Given the description of an element on the screen output the (x, y) to click on. 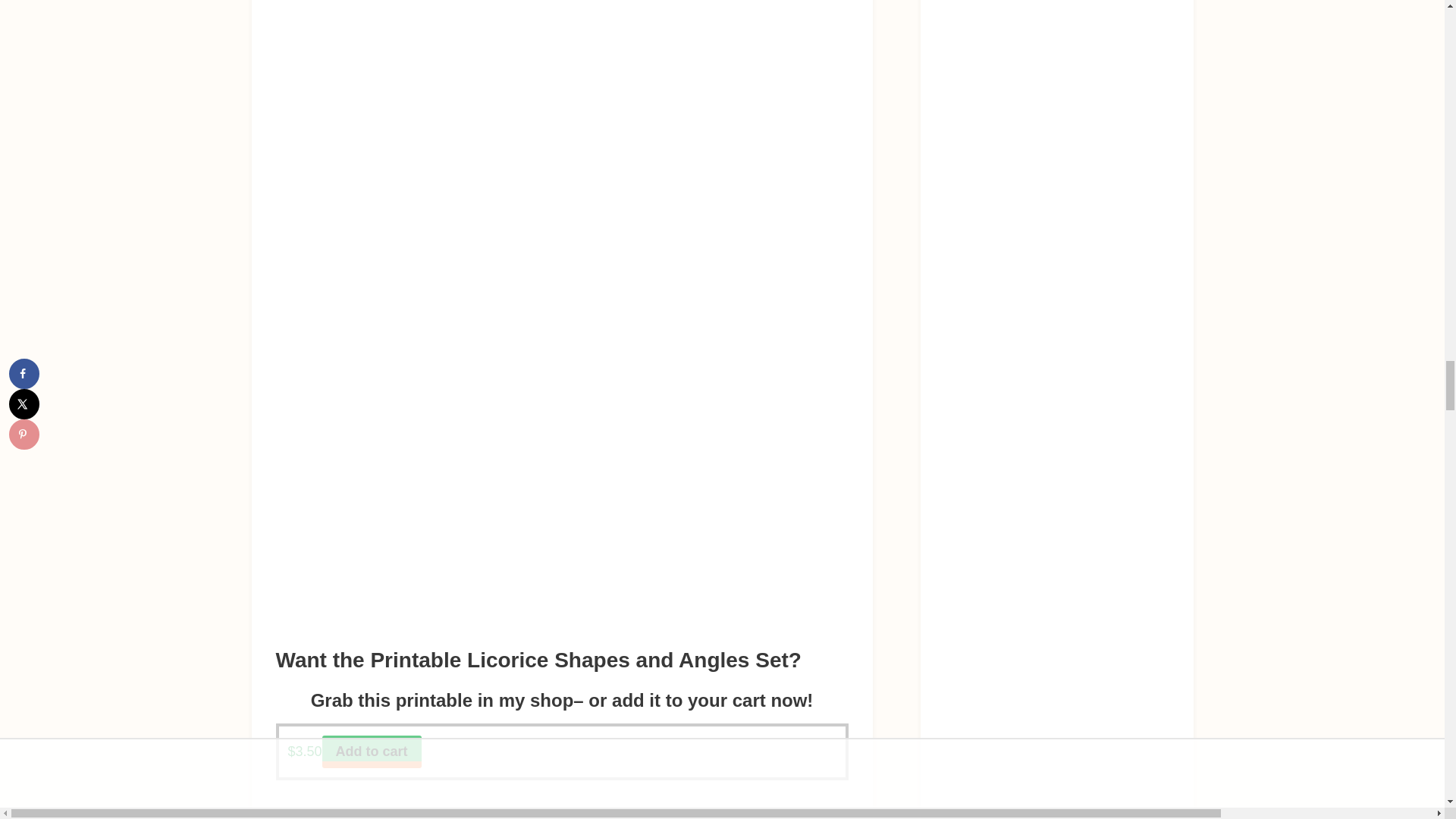
my shop (536, 700)
